Given the description of an element on the screen output the (x, y) to click on. 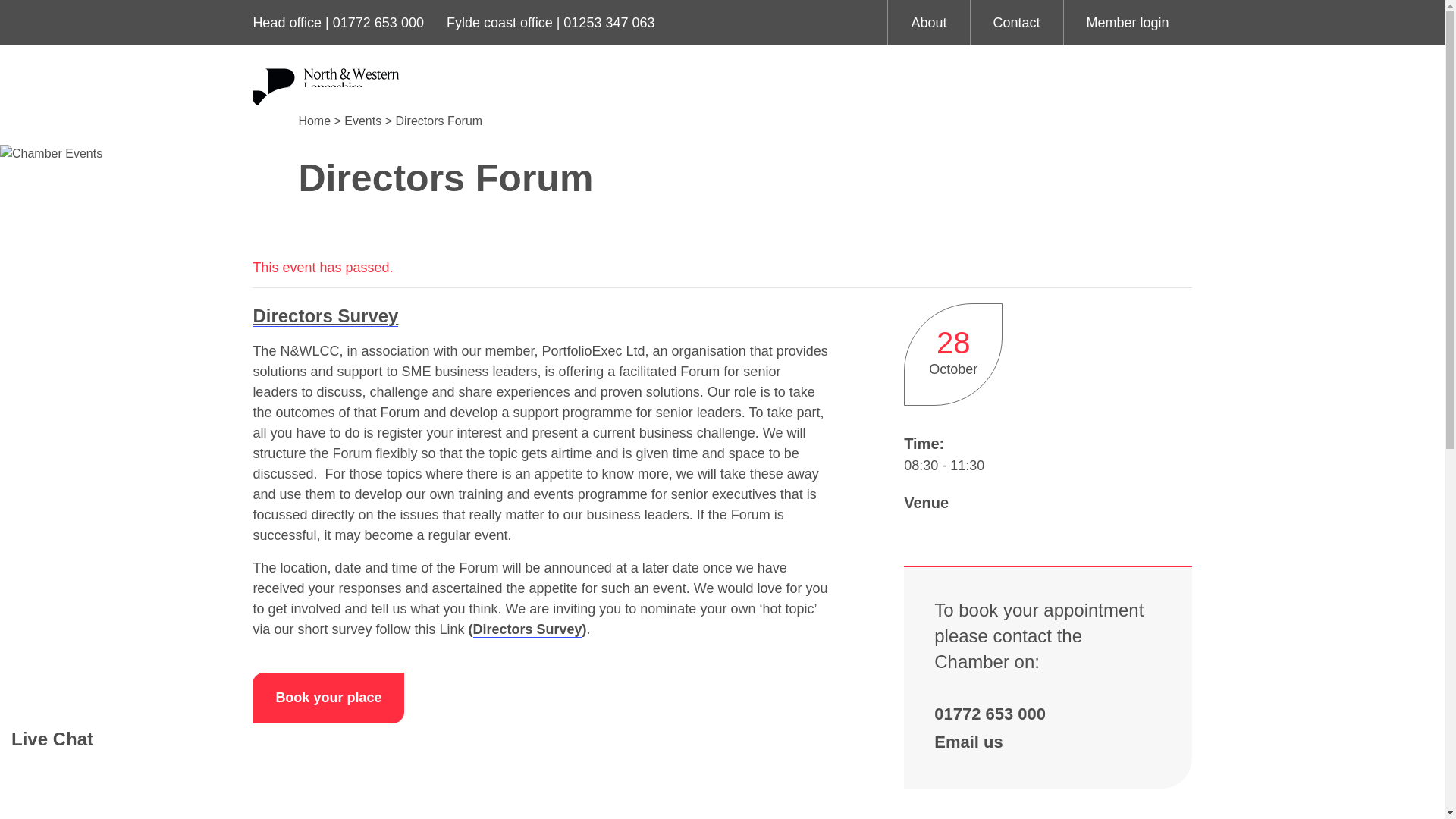
Book your place (327, 697)
Events (362, 120)
Directors Survey (324, 315)
Home (314, 120)
01772 653 000 (378, 22)
About (928, 22)
Member login (1128, 22)
Directors Survey (527, 629)
Our services (618, 98)
01253 347 063 (608, 22)
